Given the description of an element on the screen output the (x, y) to click on. 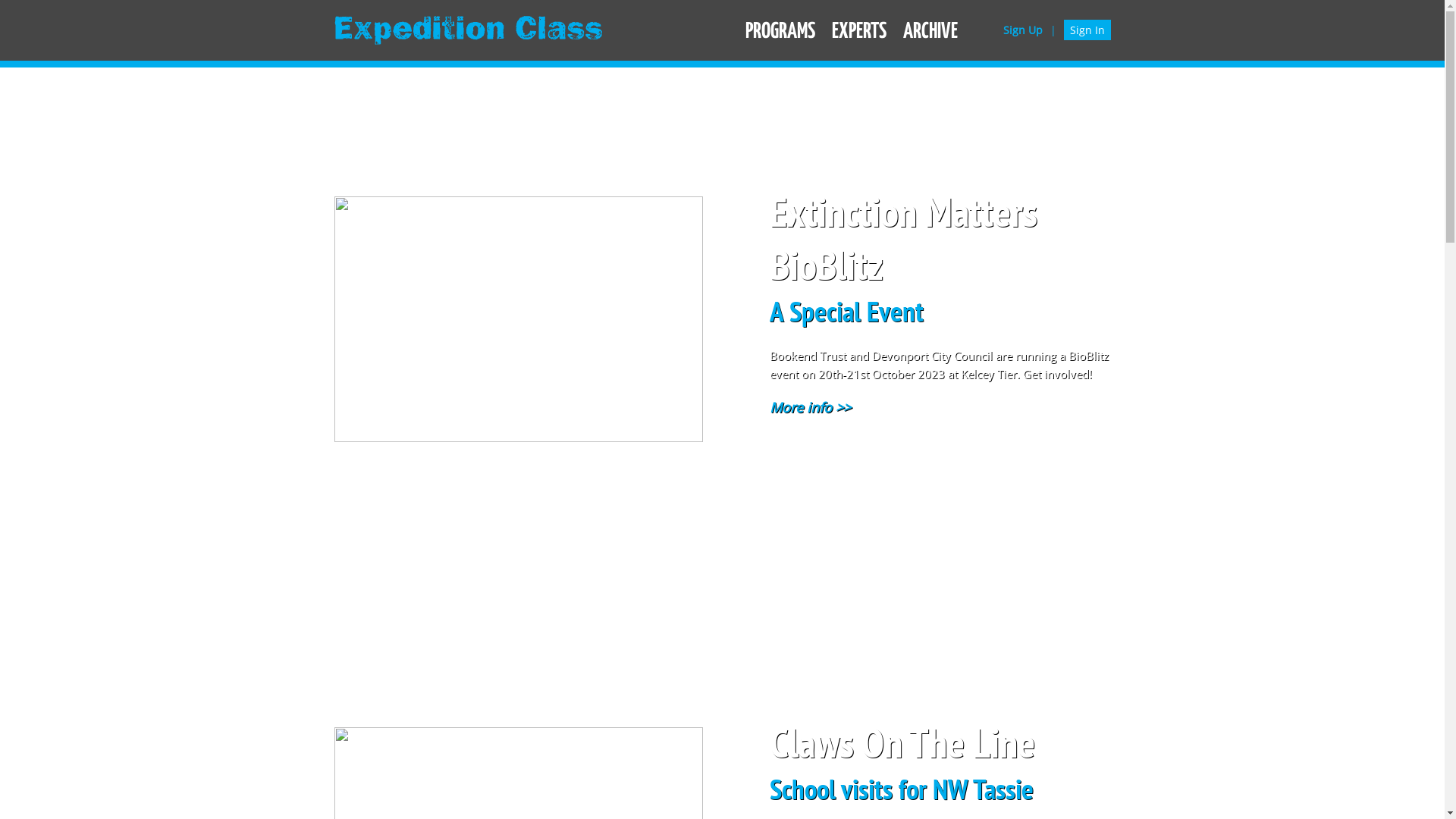
PROGRAMS Element type: text (780, 31)
EXPERTS Element type: text (858, 31)
ARCHIVE Element type: text (930, 31)
More info >> Element type: text (809, 407)
Sign In Element type: text (1086, 29)
Sign Up Element type: text (1022, 29)
